Given the description of an element on the screen output the (x, y) to click on. 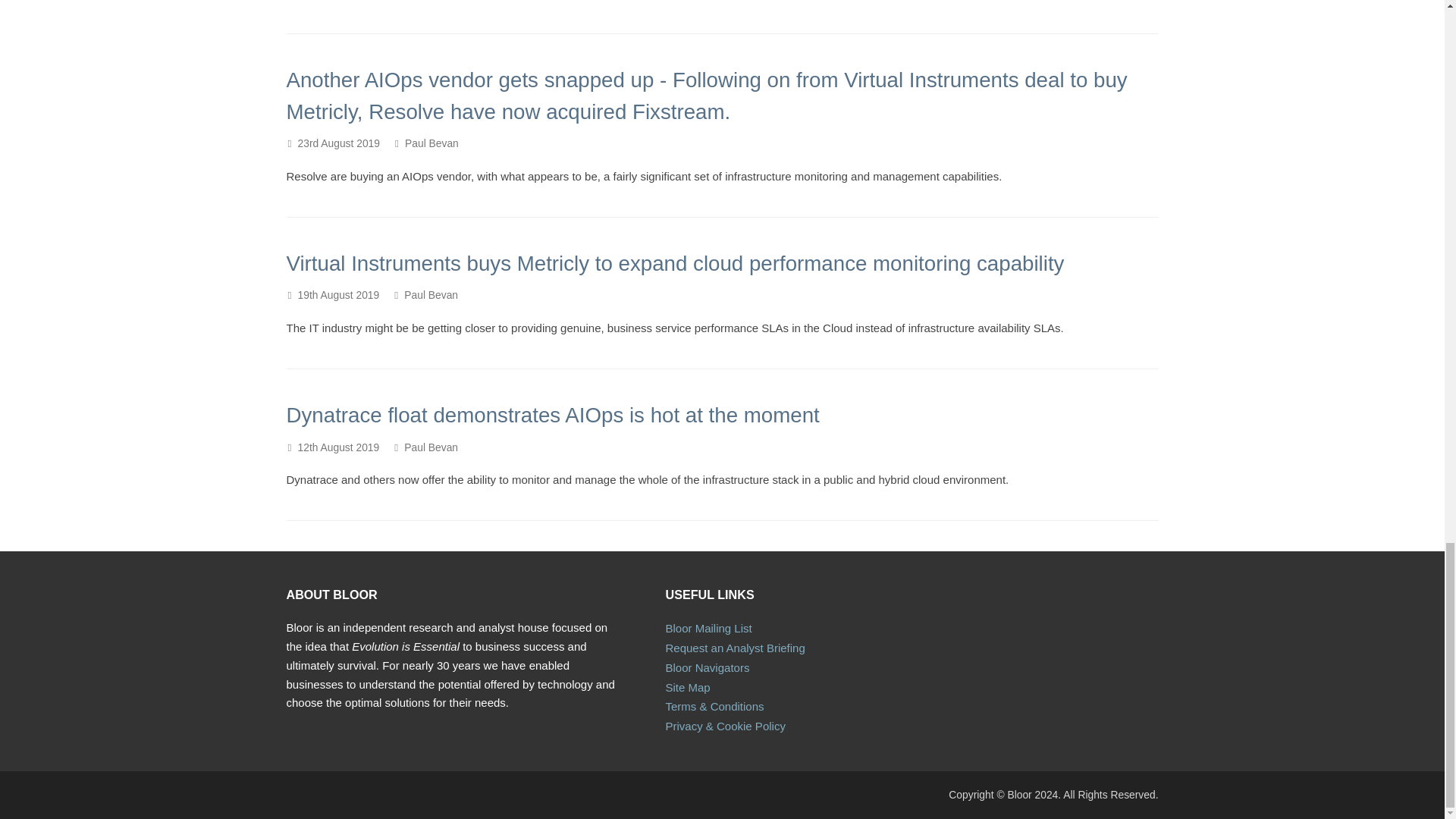
View profile for Paul Bevan (431, 295)
View profile for Paul Bevan (431, 143)
